Given the description of an element on the screen output the (x, y) to click on. 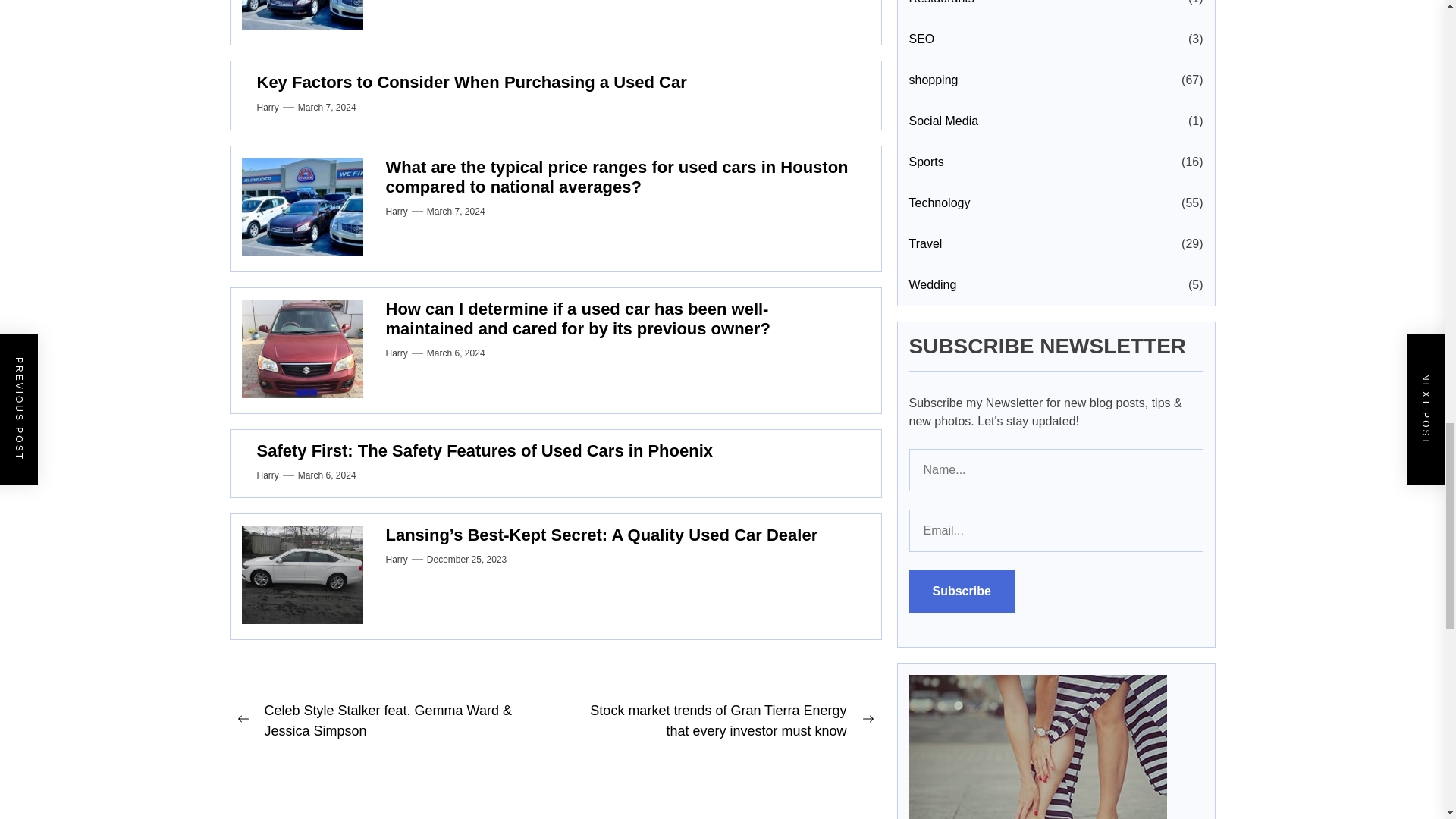
Subscribe (960, 591)
